Given the description of an element on the screen output the (x, y) to click on. 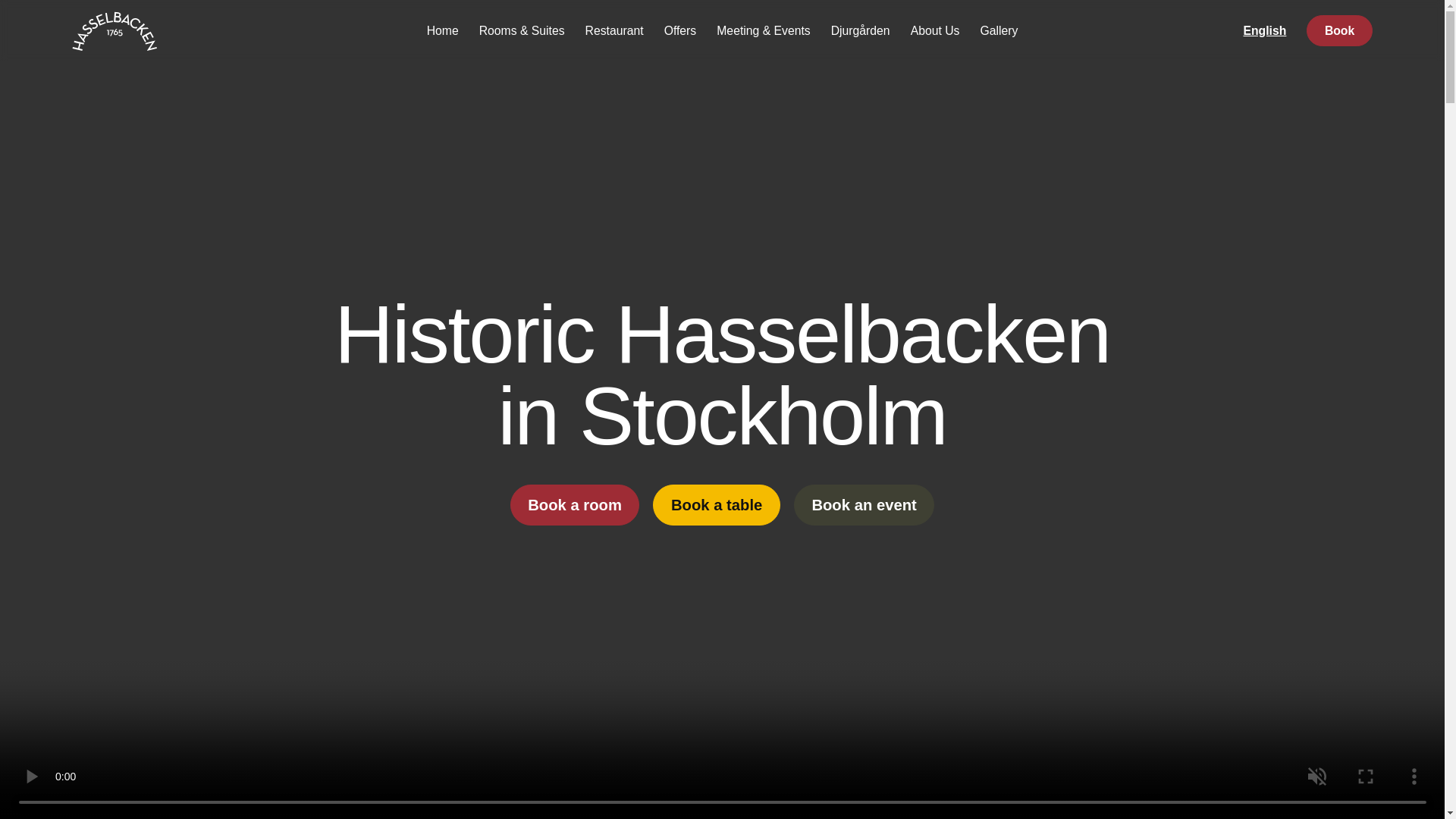
Home (442, 31)
Gallery (998, 31)
Book an event (863, 505)
Book (1338, 30)
English (1264, 31)
Book a table (715, 505)
About Us (934, 31)
Book a room (575, 505)
Offers (679, 31)
Restaurant (614, 31)
